Given the description of an element on the screen output the (x, y) to click on. 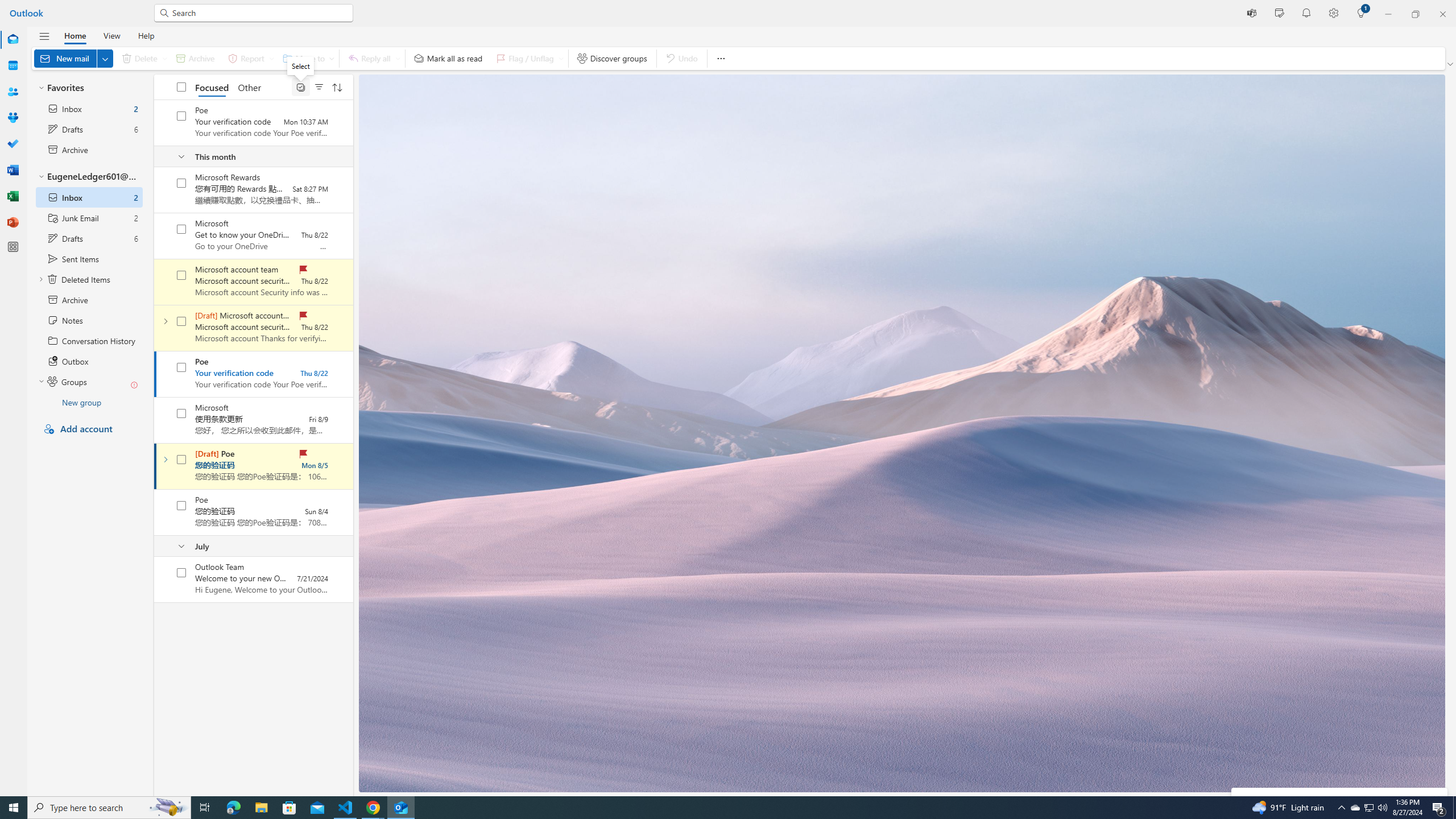
Search for email, meetings, files and more. (258, 12)
Hide navigation pane (44, 36)
AutomationID: checkbox-225 (180, 572)
Undo (681, 58)
Word (12, 169)
More apps (12, 246)
Move to (306, 58)
AutomationID: checkbox-215 (180, 505)
AutomationID: checkbox-172 (180, 321)
Report (248, 58)
Excel (12, 196)
Expand to see flag options (561, 58)
